Given the description of an element on the screen output the (x, y) to click on. 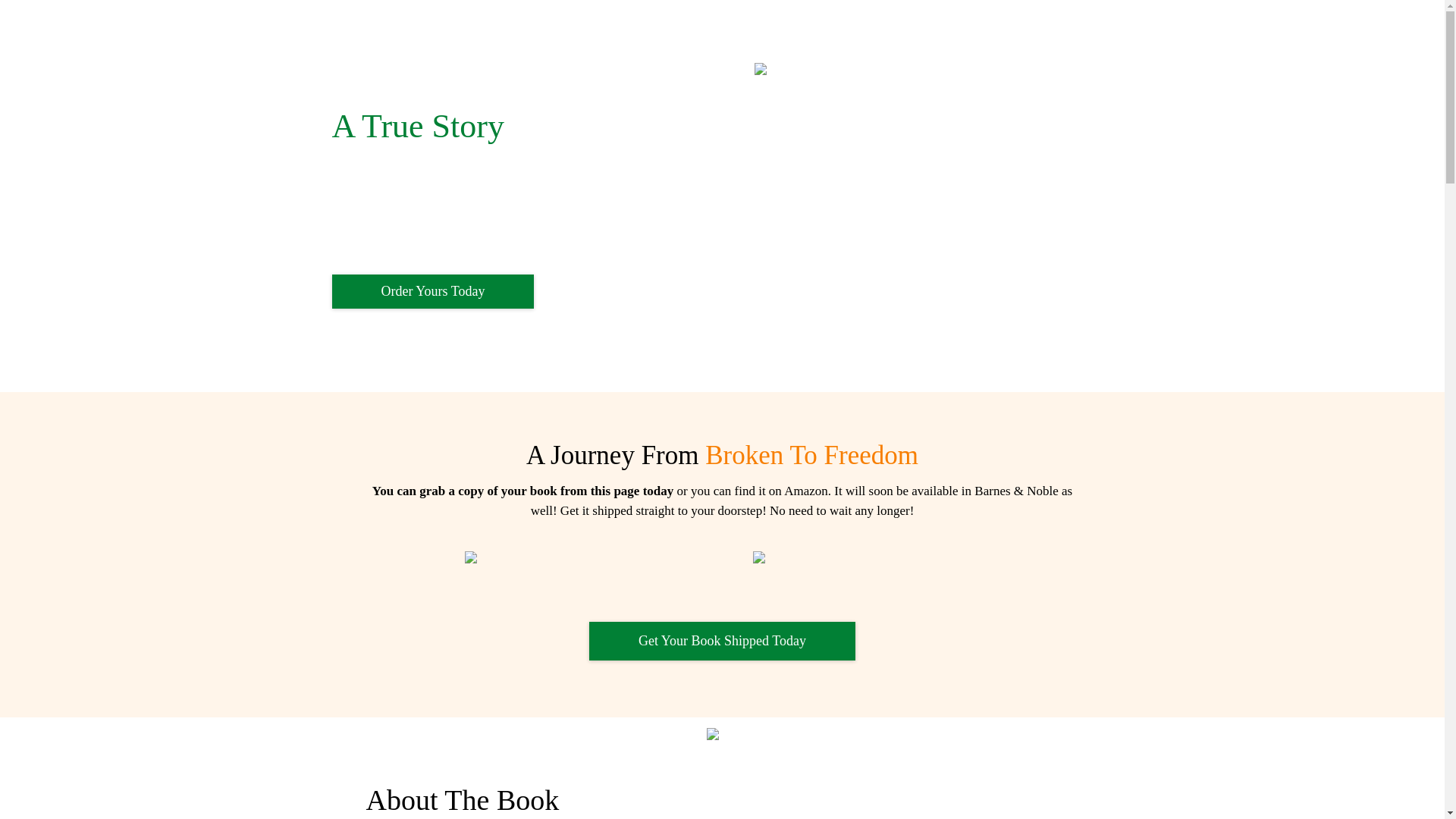
Order Yours Today (1100, 29)
Home (788, 29)
About Author (953, 29)
Debra Moore Ignont (393, 31)
Order Yours Today (432, 291)
Gallery (1021, 29)
Get Your Book Shipped Today (722, 640)
Upcoming Events (861, 29)
